Given the description of an element on the screen output the (x, y) to click on. 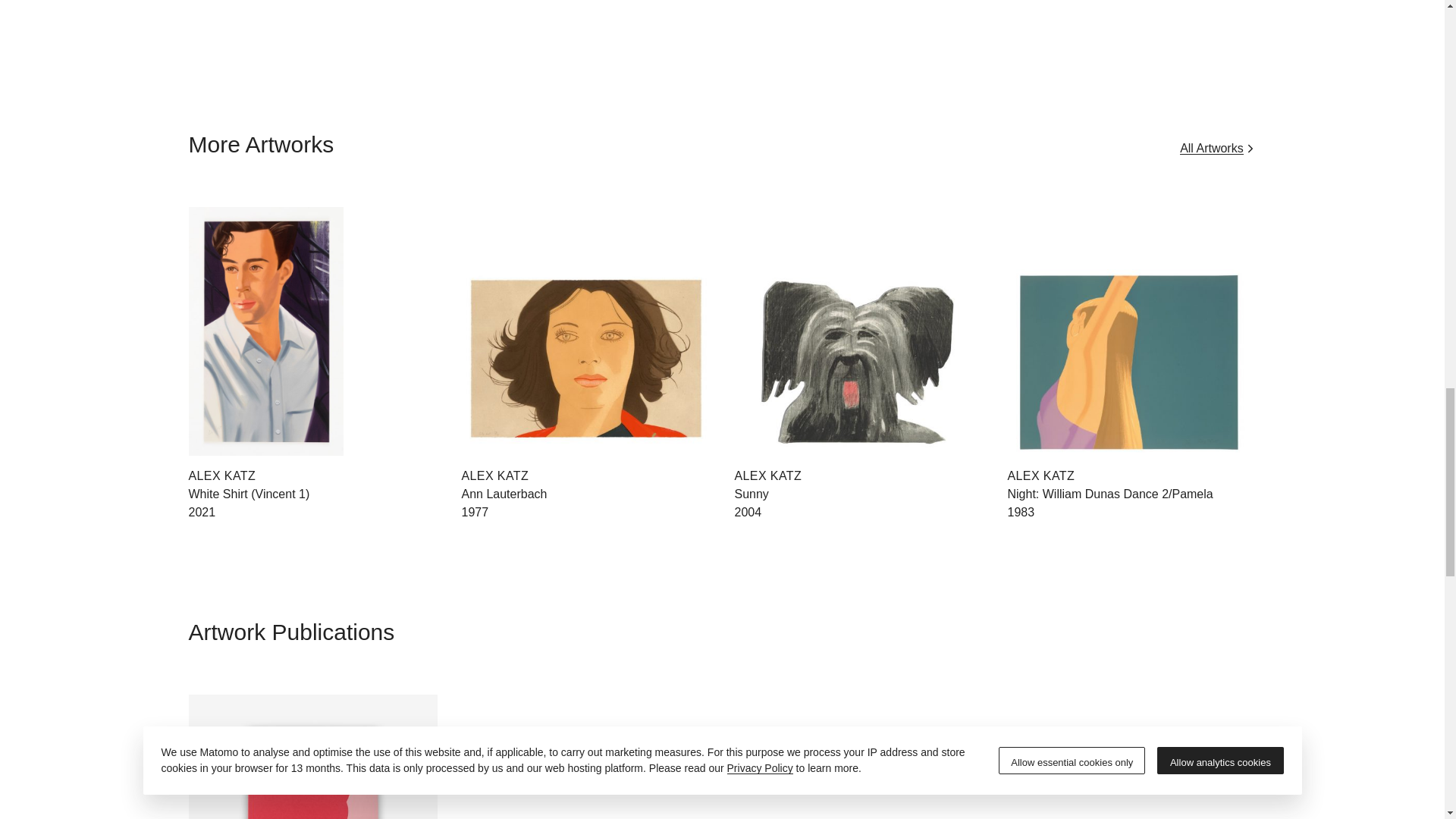
ALEX KATZ (1040, 475)
All Artworks (1217, 147)
ALEX KATZ (494, 475)
ALEX KATZ (504, 502)
ALEX KATZ (221, 475)
